Given the description of an element on the screen output the (x, y) to click on. 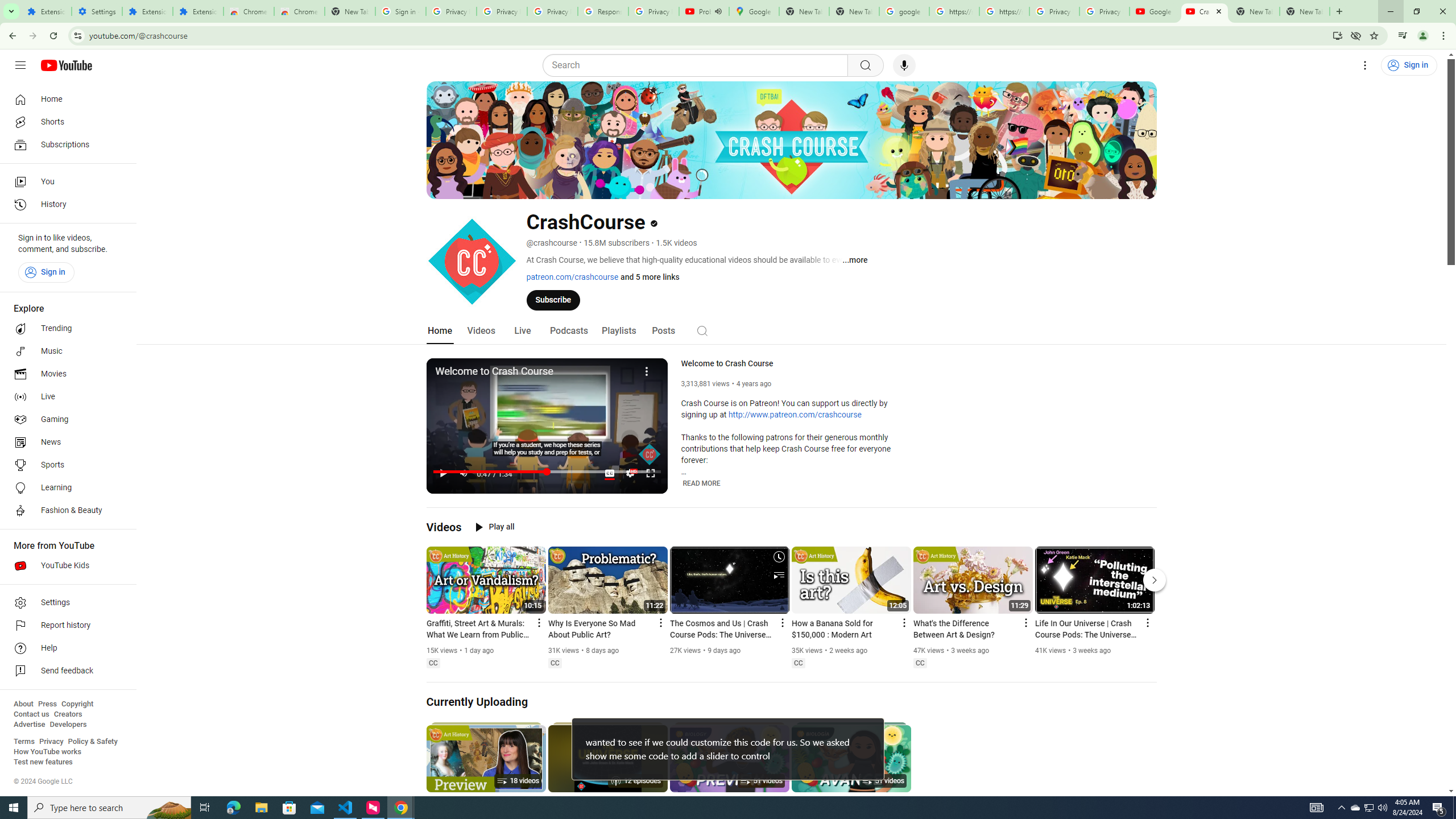
You (64, 181)
You (1422, 35)
Third-party cookies blocked (1355, 35)
Videos (443, 526)
Subscribe (552, 299)
Pause (k) (443, 472)
Live (521, 330)
Extensions (146, 11)
Settings (1365, 65)
Creators (67, 714)
Install YouTube (1336, 35)
How YouTube works (47, 751)
